Given the description of an element on the screen output the (x, y) to click on. 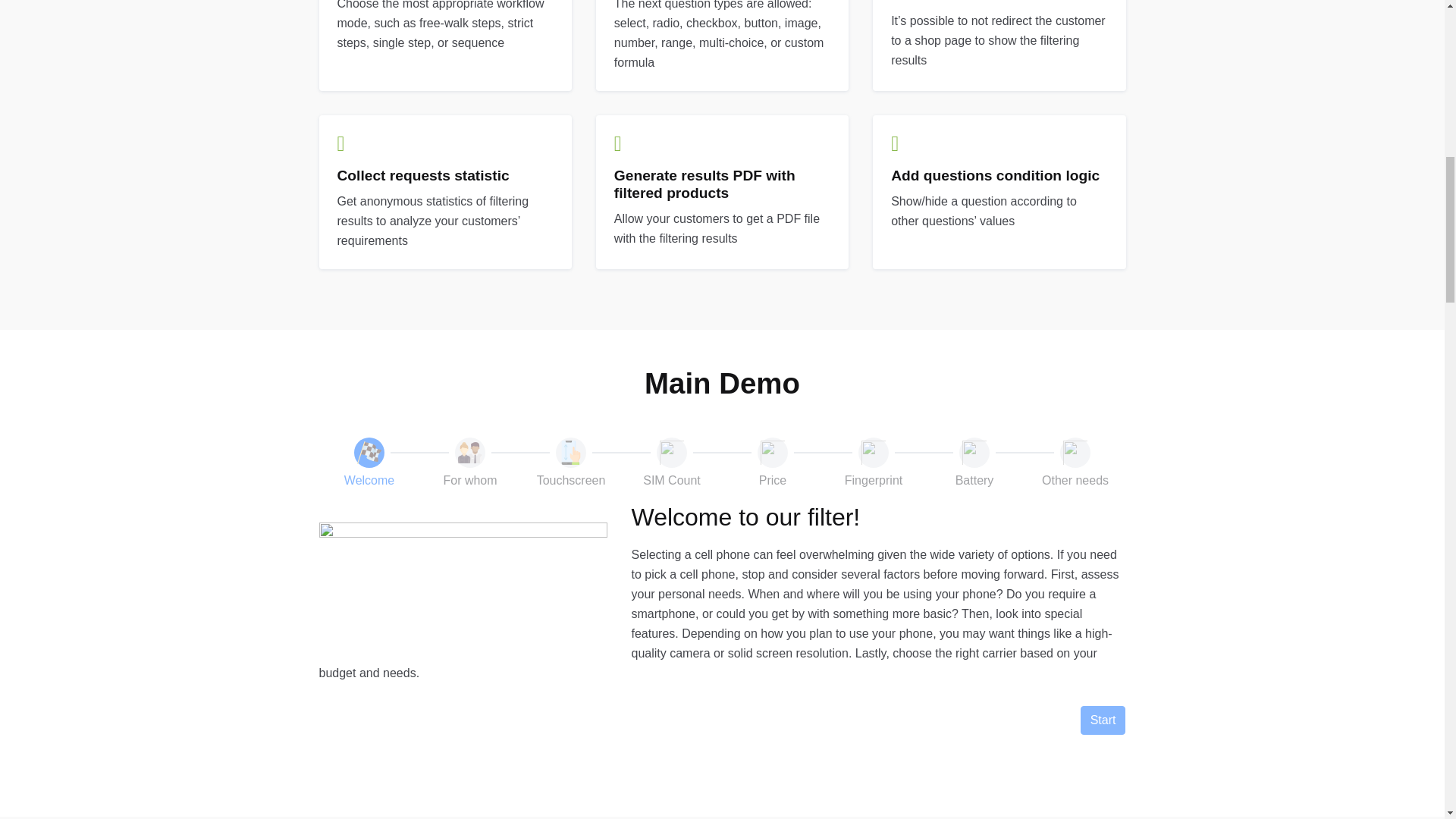
Battery (974, 463)
Fingerprint (874, 463)
SIM Count (671, 463)
Price (773, 463)
Touchscreen (571, 463)
Other needs (1075, 463)
For whom (470, 463)
Welcome (369, 463)
